Given the description of an element on the screen output the (x, y) to click on. 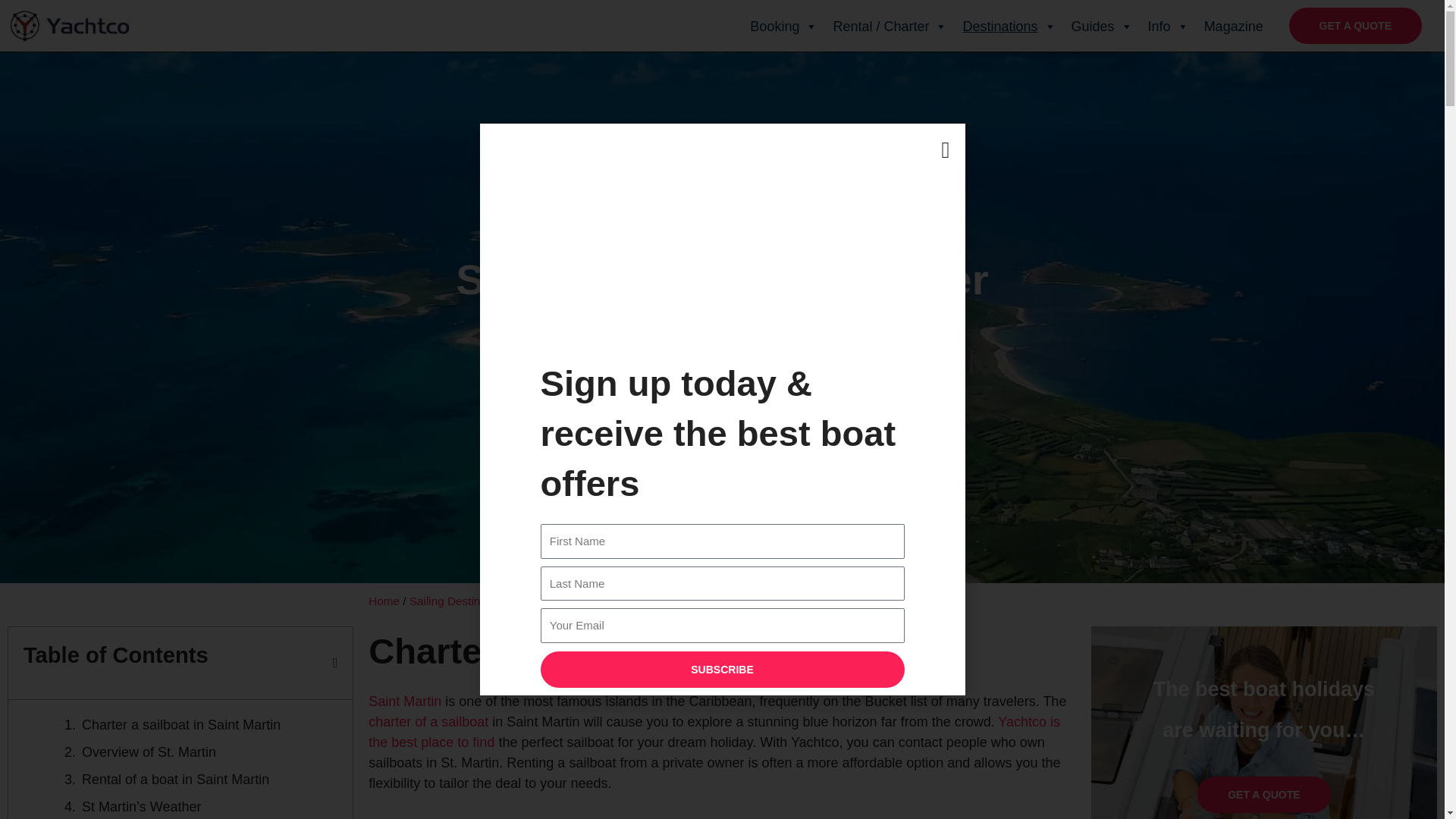
Sailing destinations (1008, 26)
YCO-logo-website (69, 26)
Destinations (1008, 26)
Booking (783, 26)
